Given the description of an element on the screen output the (x, y) to click on. 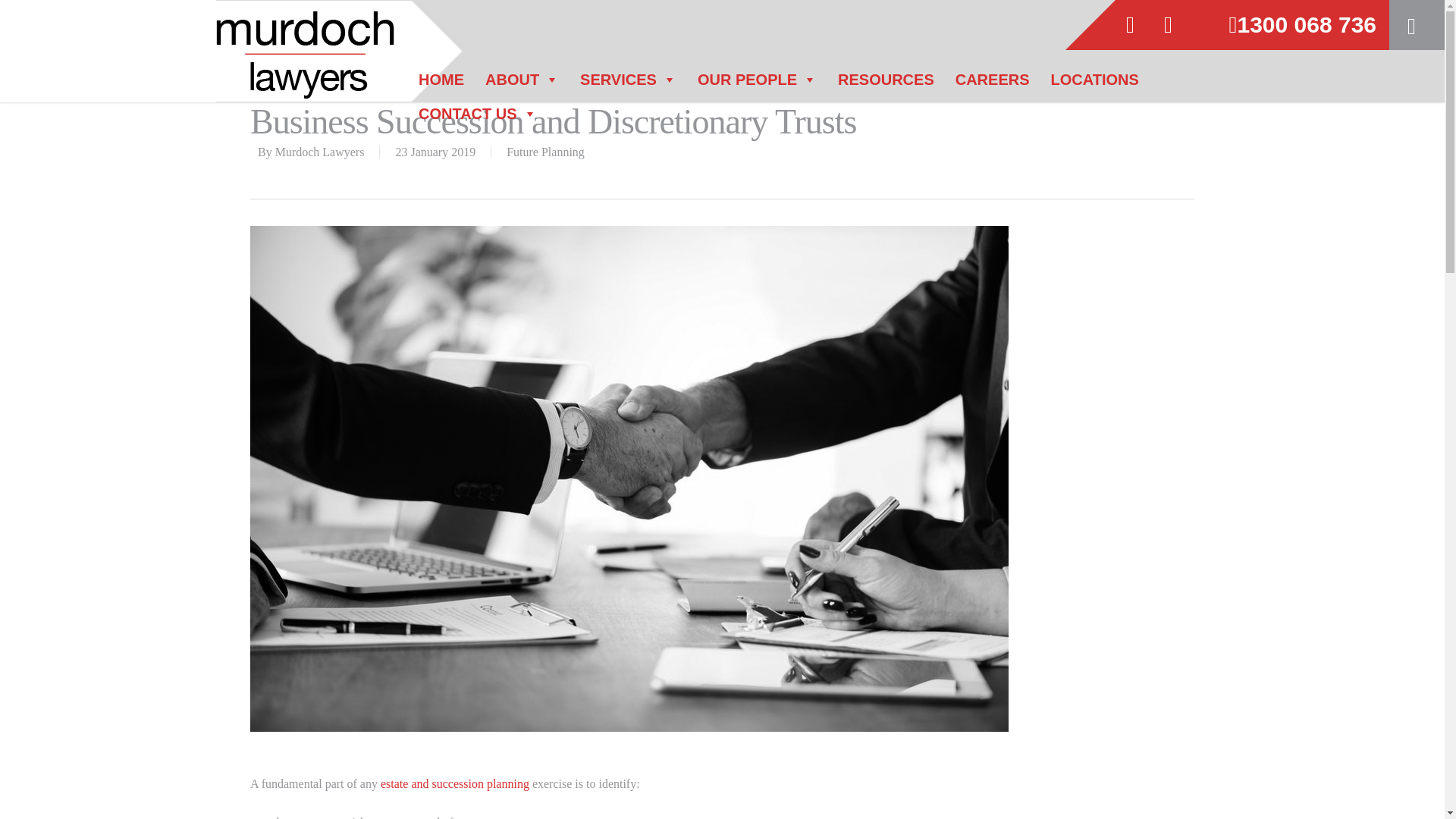
Locations (1094, 84)
About (521, 84)
Home (441, 84)
Contact Us (478, 119)
Careers (992, 84)
Services (628, 84)
SERVICES (628, 84)
Our People (756, 84)
HOME (441, 84)
ABOUT (521, 84)
